Given the description of an element on the screen output the (x, y) to click on. 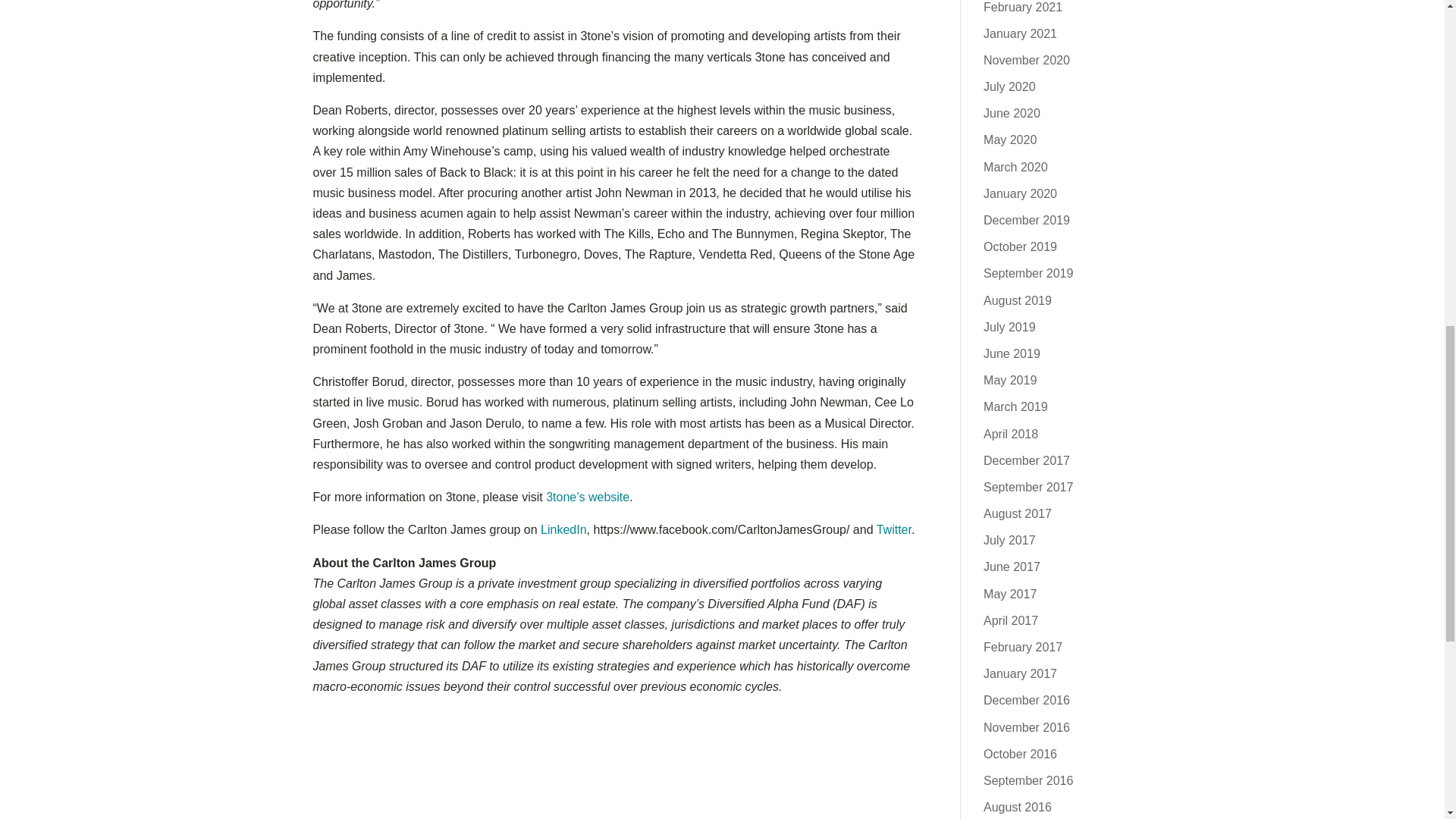
February 2021 (1023, 6)
Twitter (893, 529)
May 2020 (1010, 139)
June 2020 (1012, 113)
November 2020 (1027, 60)
July 2020 (1009, 86)
LinkedIn (563, 529)
January 2021 (1020, 33)
